Given the description of an element on the screen output the (x, y) to click on. 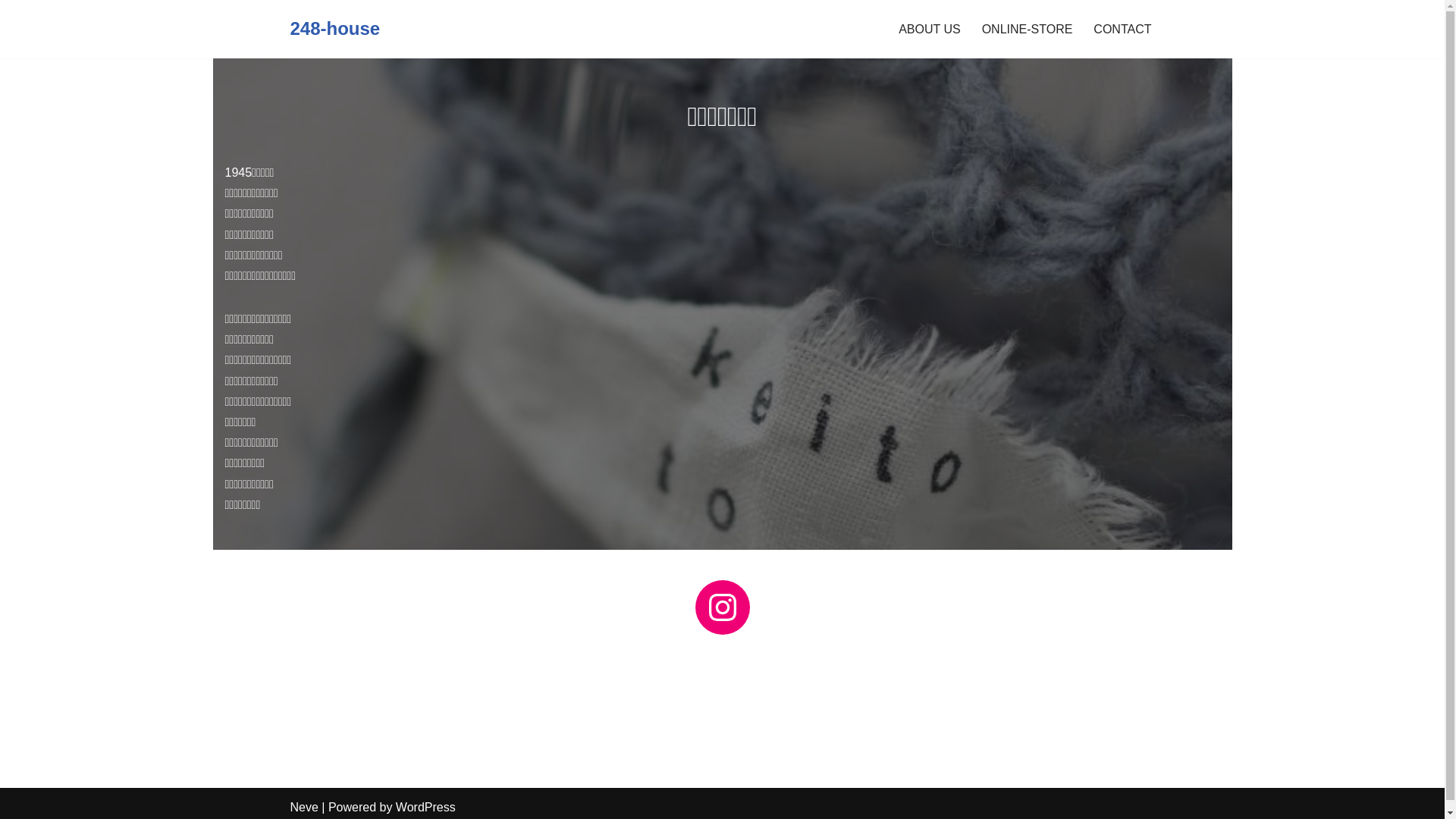
Neve Element type: text (303, 806)
WordPress Element type: text (425, 806)
248-house Element type: text (334, 28)
CONTACT Element type: text (1122, 28)
ONLINE-STORE Element type: text (1027, 28)
ABOUT US Element type: text (929, 28)
